Given the description of an element on the screen output the (x, y) to click on. 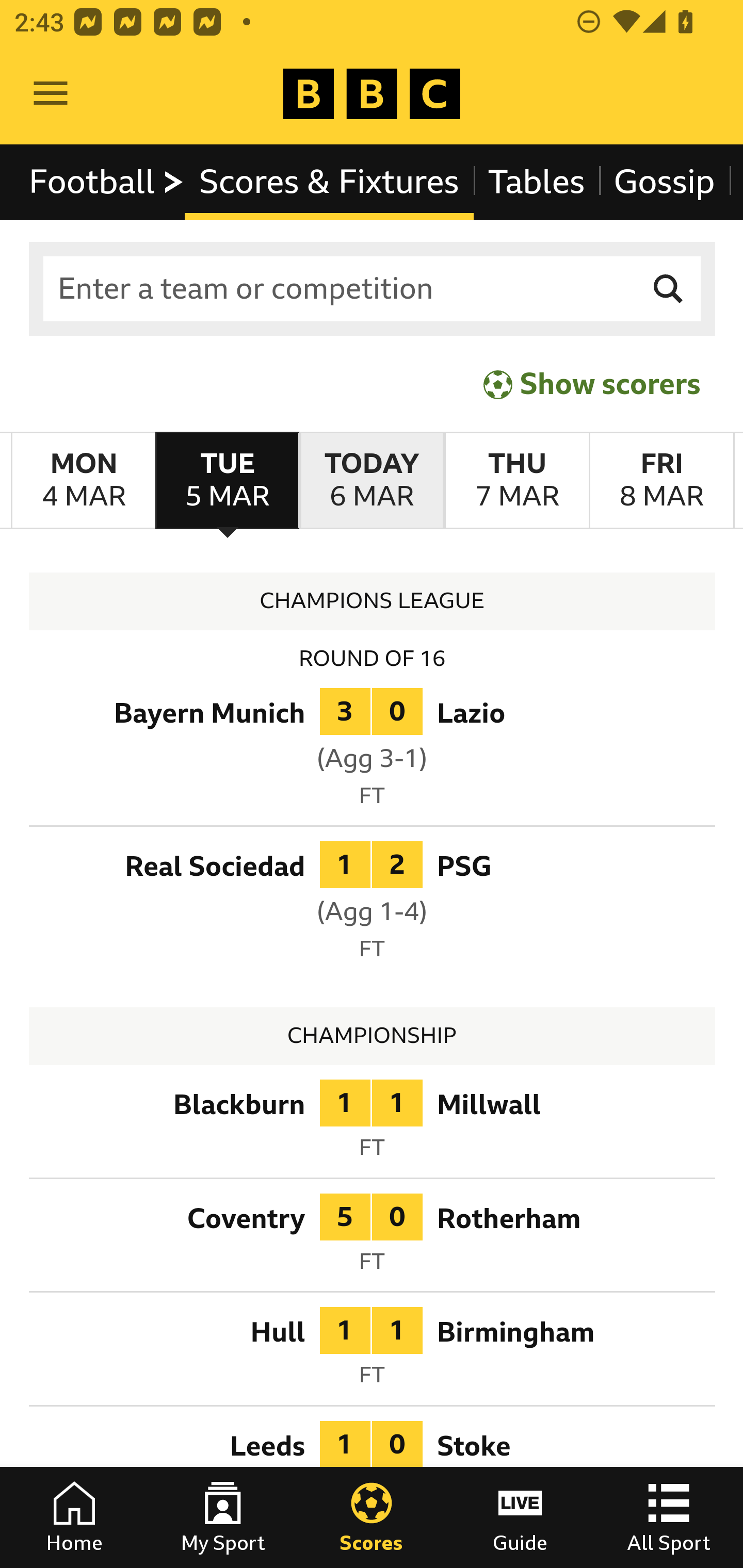
Open Menu (50, 93)
Football  (106, 181)
Scores & Fixtures (329, 181)
Tables (536, 181)
Gossip (664, 181)
Search (669, 289)
Show scorers (591, 383)
MondayMarch 4th Monday March 4th (83, 480)
TodayMarch 6th Today March 6th (371, 480)
ThursdayMarch 7th Thursday March 7th (516, 480)
FridayMarch 8th Friday March 8th (661, 480)
68410342 Blackburn Rovers 1 Millwall 1 Full Time (372, 1123)
68410333 Hull City 1 Birmingham City 1 Full Time (372, 1352)
Home (74, 1517)
My Sport (222, 1517)
Guide (519, 1517)
All Sport (668, 1517)
